Given the description of an element on the screen output the (x, y) to click on. 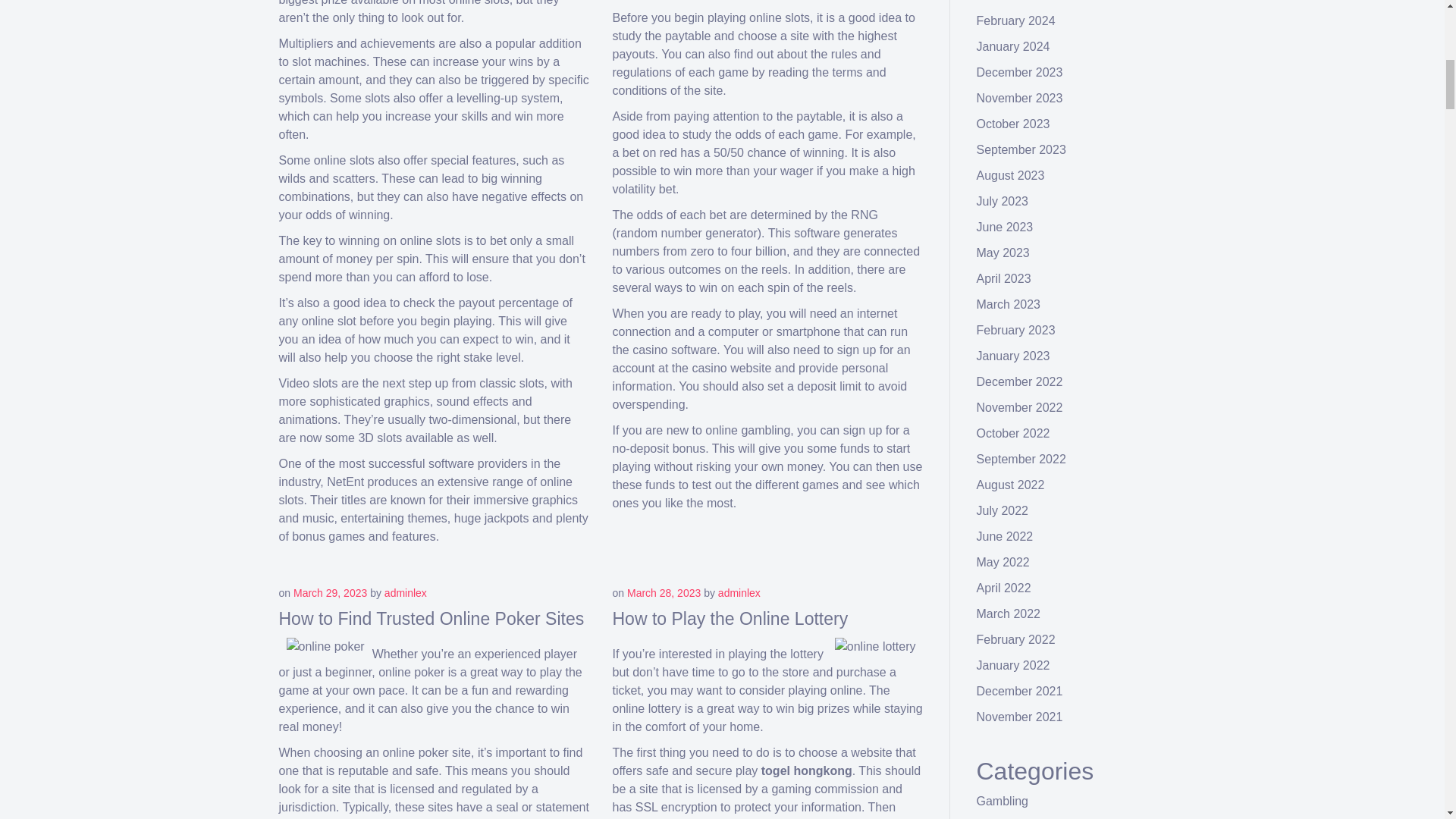
adminlex (738, 592)
adminlex (405, 592)
How to Find Trusted Online Poker Sites (432, 618)
togel hongkong (806, 770)
March 28, 2023 (663, 592)
How to Play the Online Lottery (730, 618)
March 29, 2023 (330, 592)
